Given the description of an element on the screen output the (x, y) to click on. 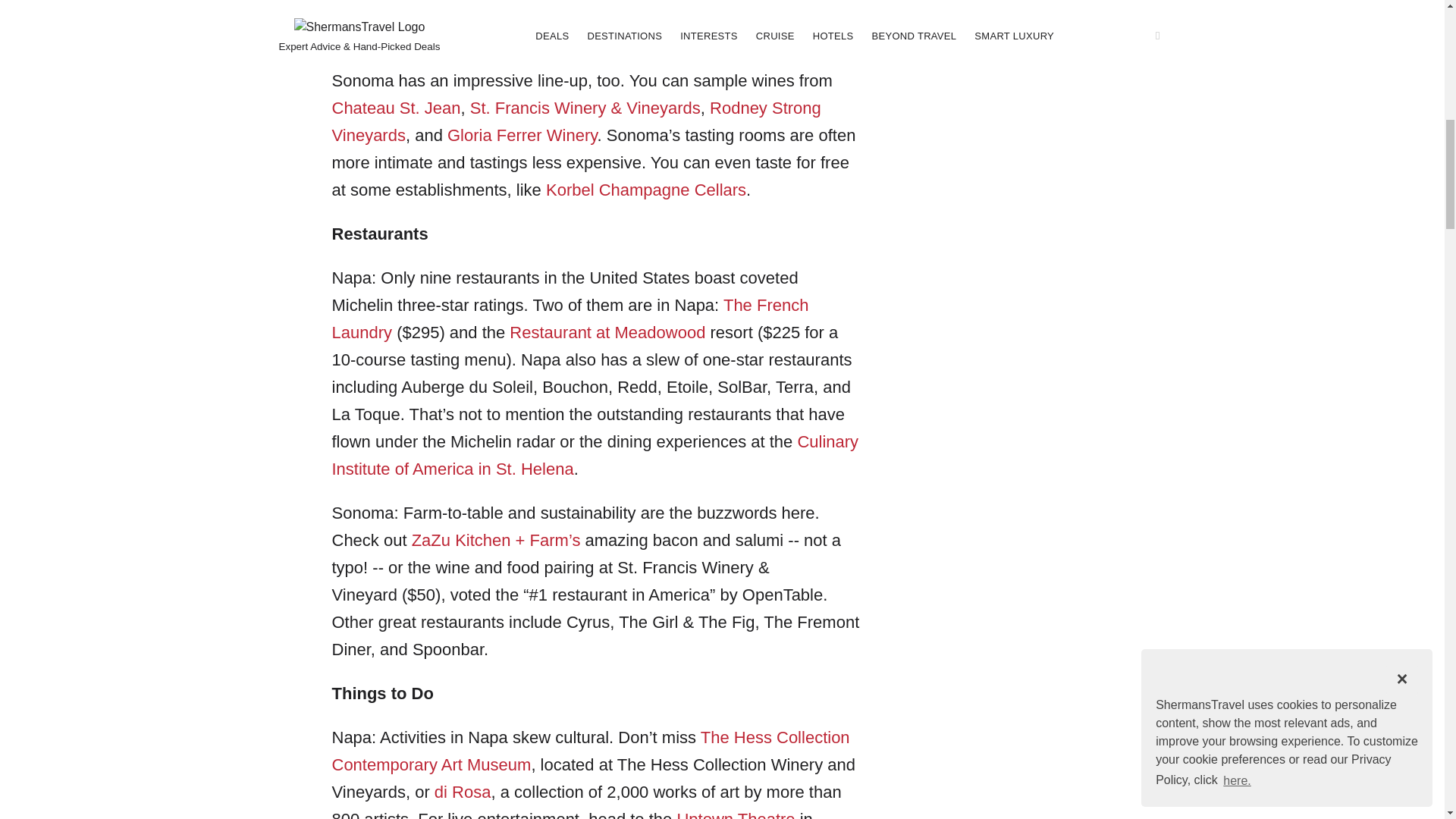
St. Francis Winery (538, 107)
Rodney Strong Vineyards (576, 121)
Chateau St. Jean (396, 107)
Gloria Ferrer Winery (521, 135)
Korbel Champagne Cellars (645, 189)
